Given the description of an element on the screen output the (x, y) to click on. 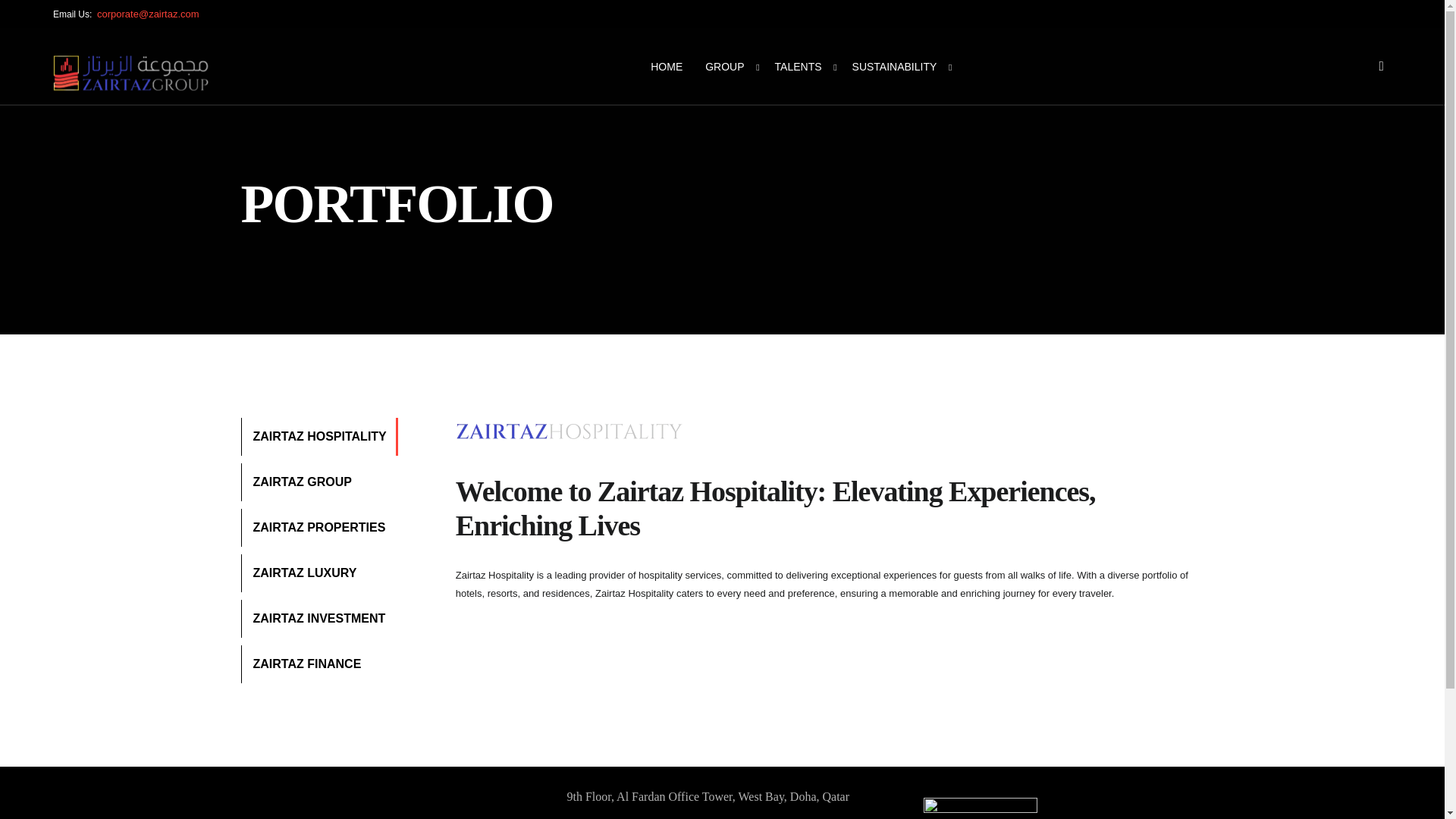
SUSTAINABILITY (898, 67)
TALENTS (801, 82)
ZAIRTAZ HOSPITALITY (319, 436)
